Given the description of an element on the screen output the (x, y) to click on. 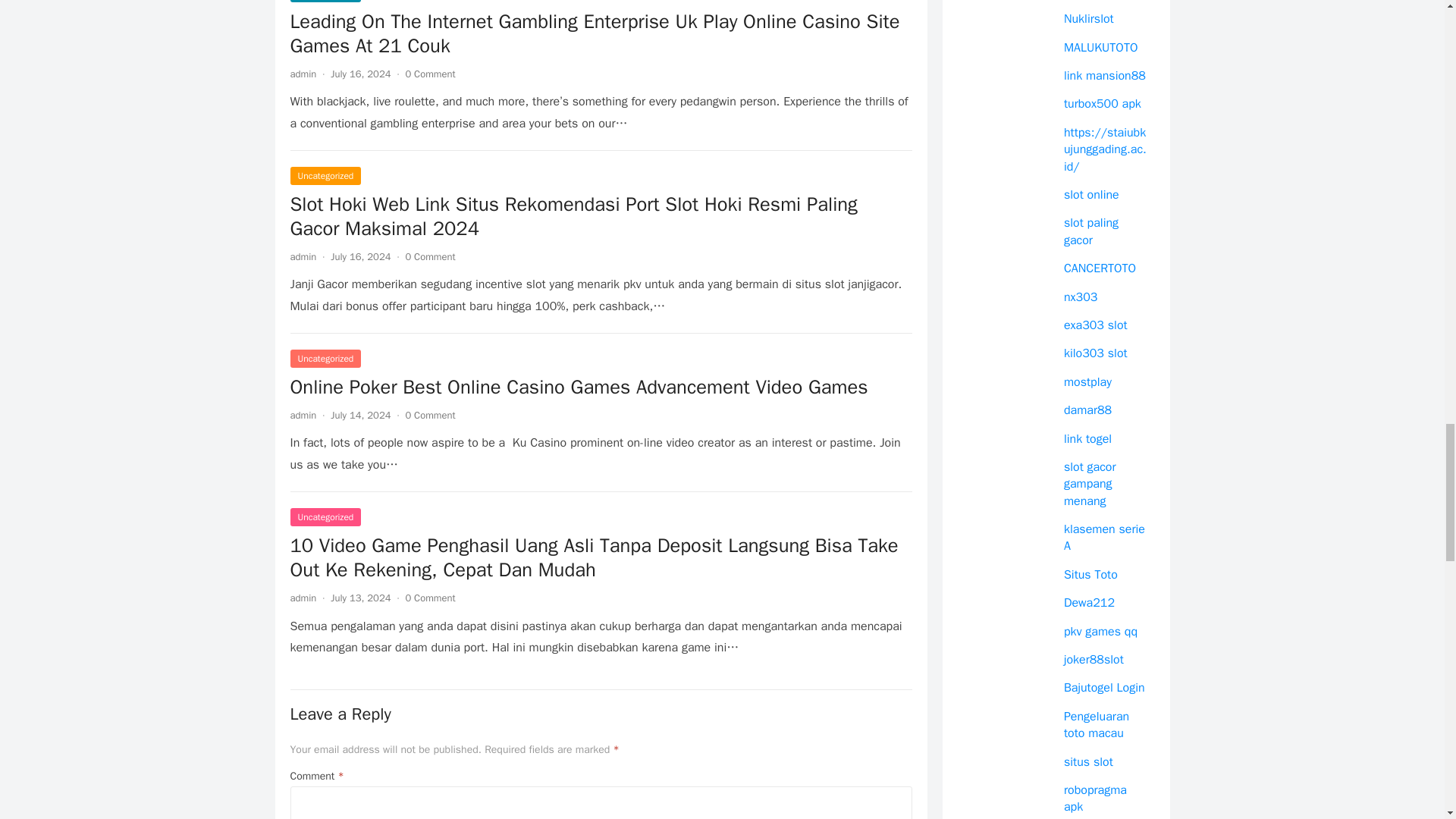
Posts by admin (302, 256)
Posts by admin (302, 597)
Posts by admin (302, 72)
Uncategorized (325, 1)
Posts by admin (302, 414)
